Given the description of an element on the screen output the (x, y) to click on. 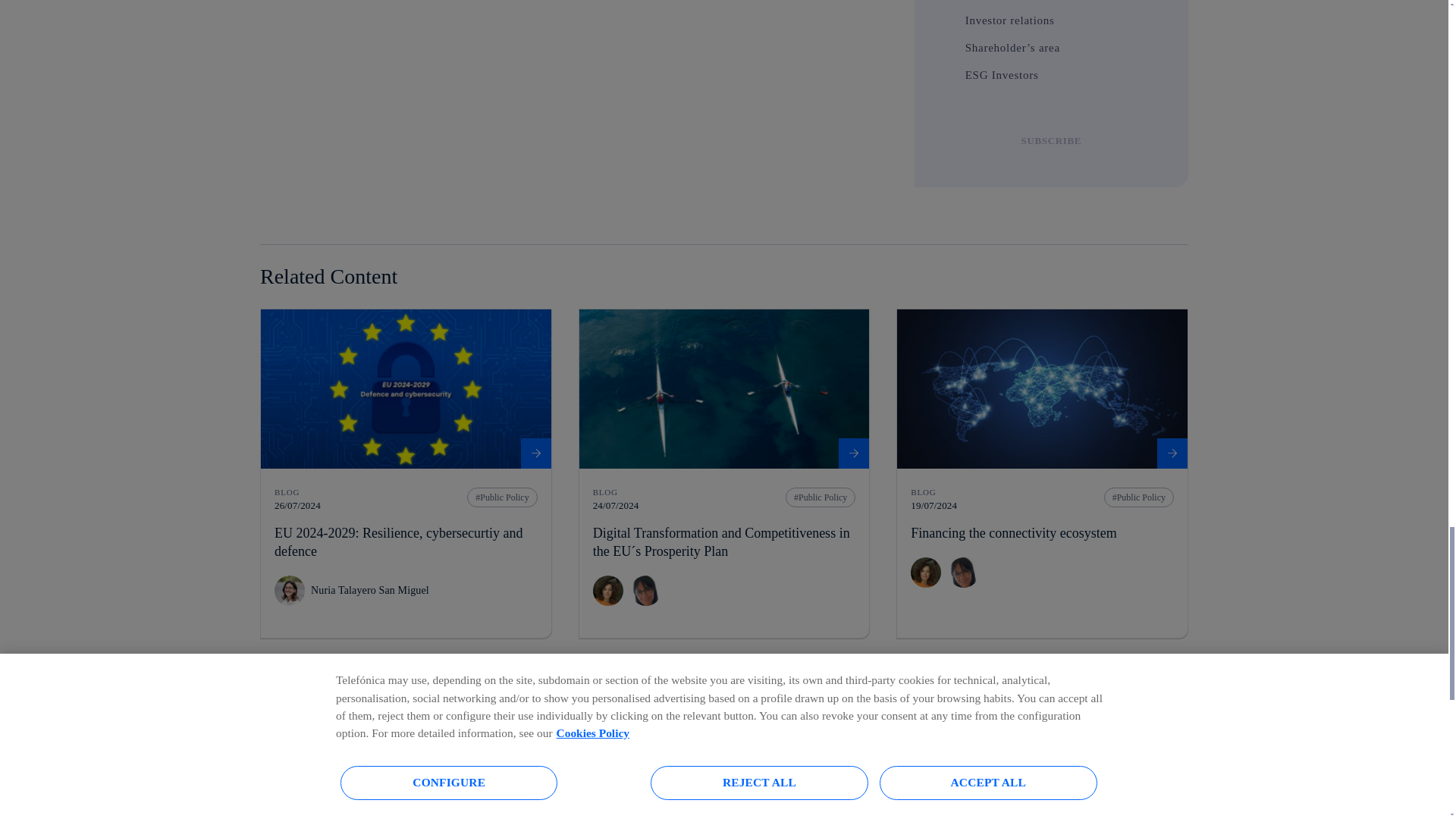
Shareholder's area (948, 47)
Investor relations (948, 20)
ESG Investors (948, 74)
